Given the description of an element on the screen output the (x, y) to click on. 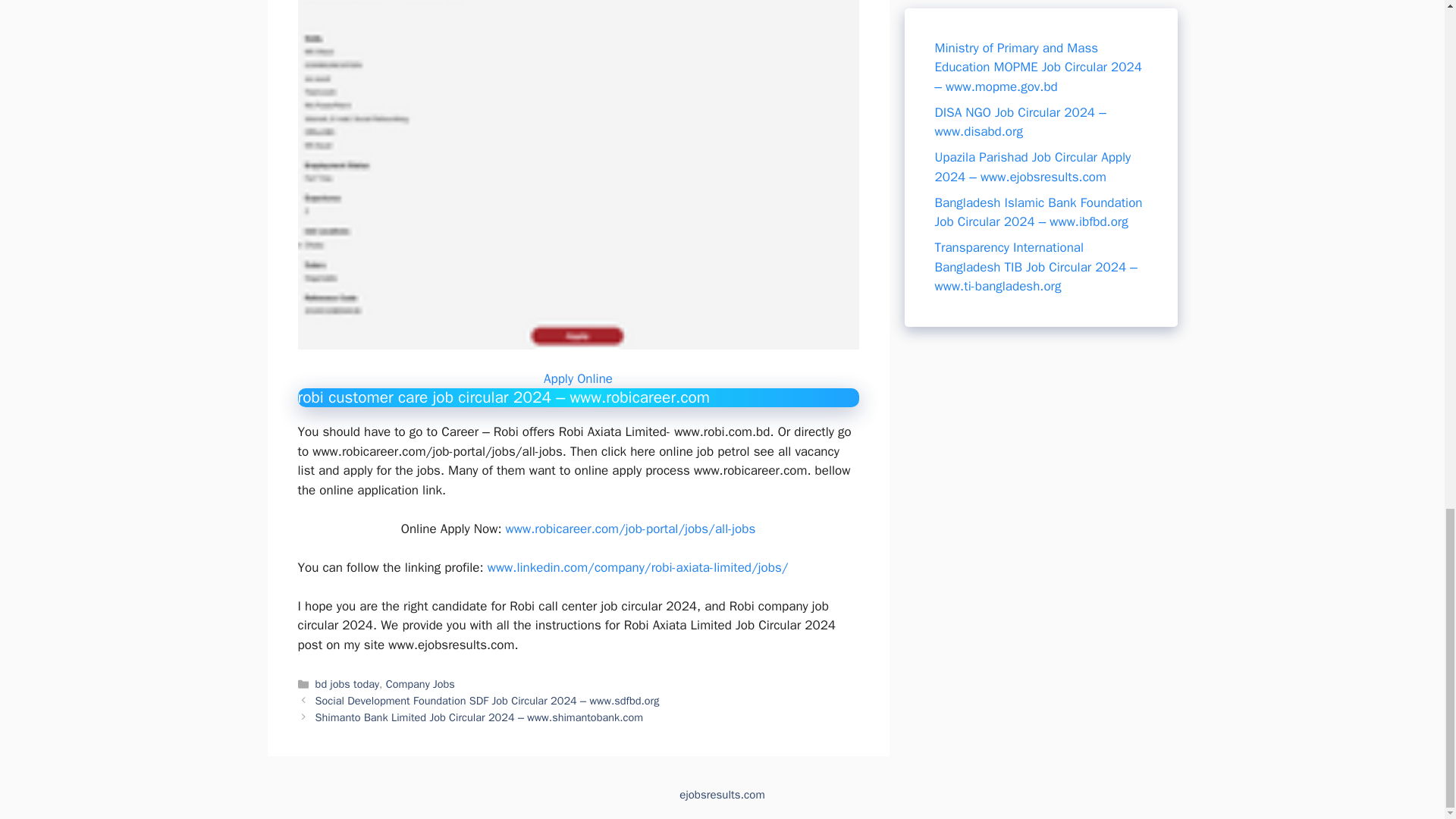
Apply Online (577, 378)
Scroll back to top (1406, 173)
bd jobs today (346, 684)
Company Jobs (419, 684)
